Given the description of an element on the screen output the (x, y) to click on. 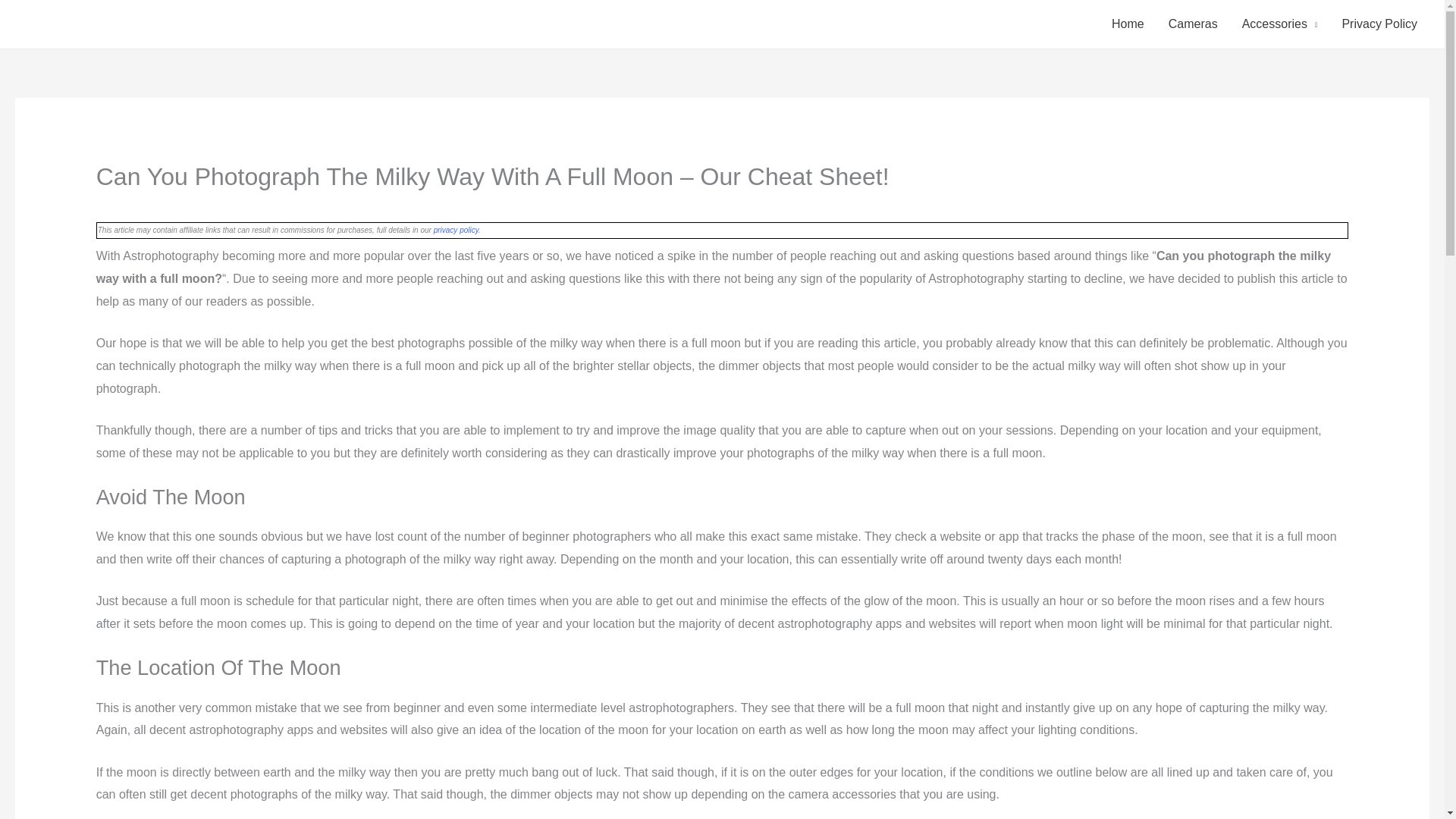
privacy policy (456, 230)
Home (1127, 24)
Privacy Policy (1379, 24)
Accessories (1280, 24)
Cameras (1193, 24)
